Given the description of an element on the screen output the (x, y) to click on. 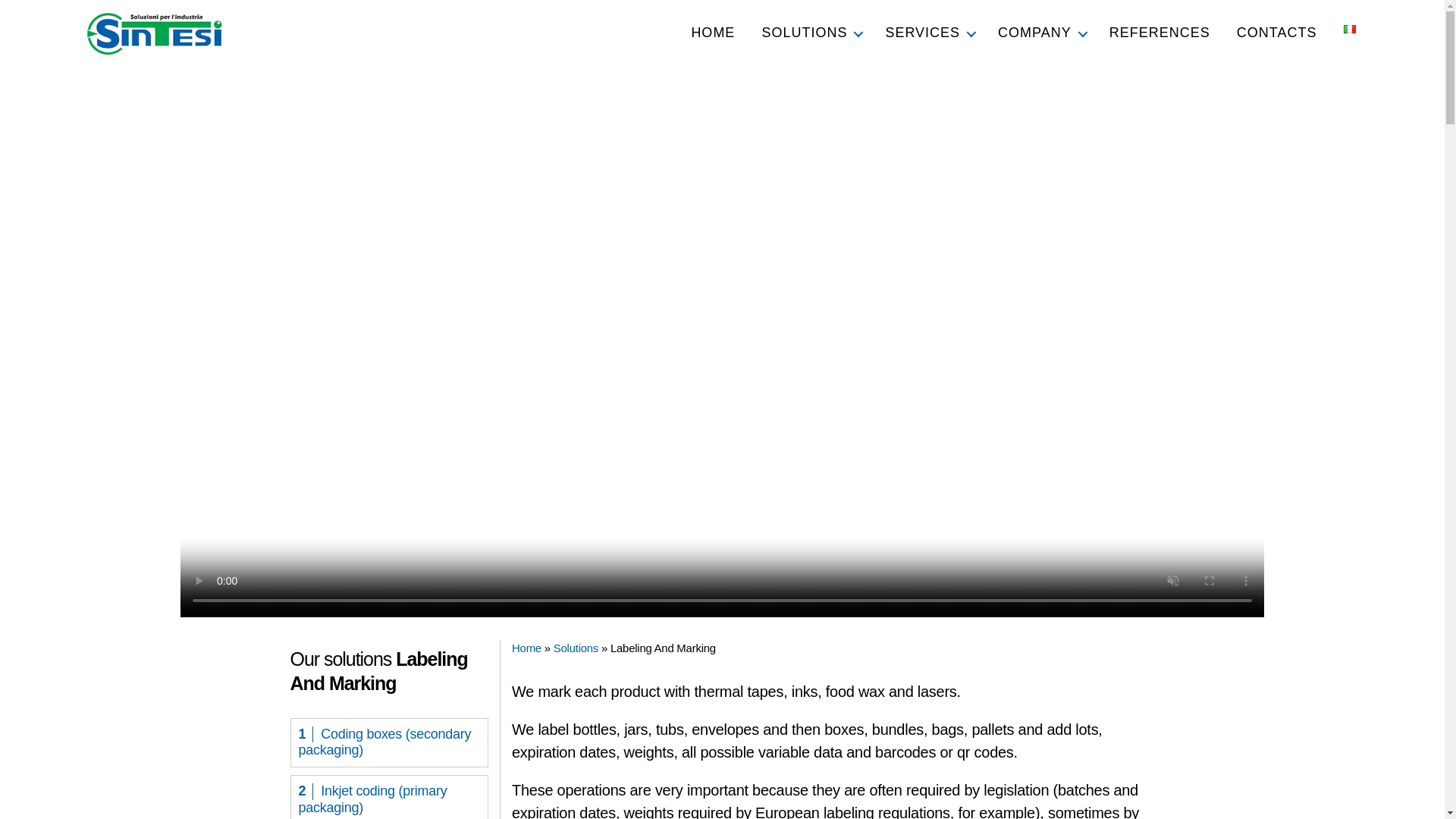
HOME (712, 33)
SERVICES (927, 33)
SOLUTIONS (809, 33)
REFERENCES (1159, 33)
COMPANY (1040, 33)
CONTACTS (1276, 33)
